Given the description of an element on the screen output the (x, y) to click on. 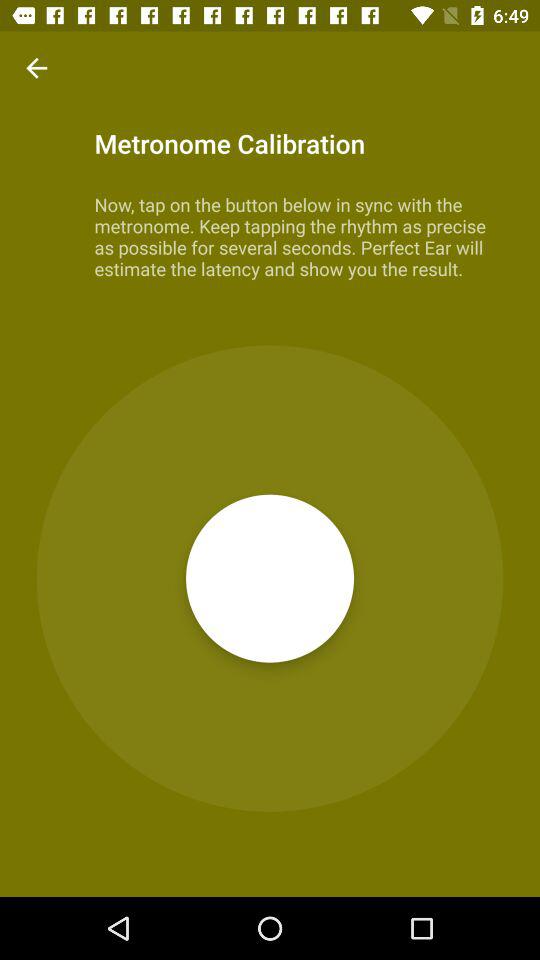
select item at the top left corner (36, 68)
